Given the description of an element on the screen output the (x, y) to click on. 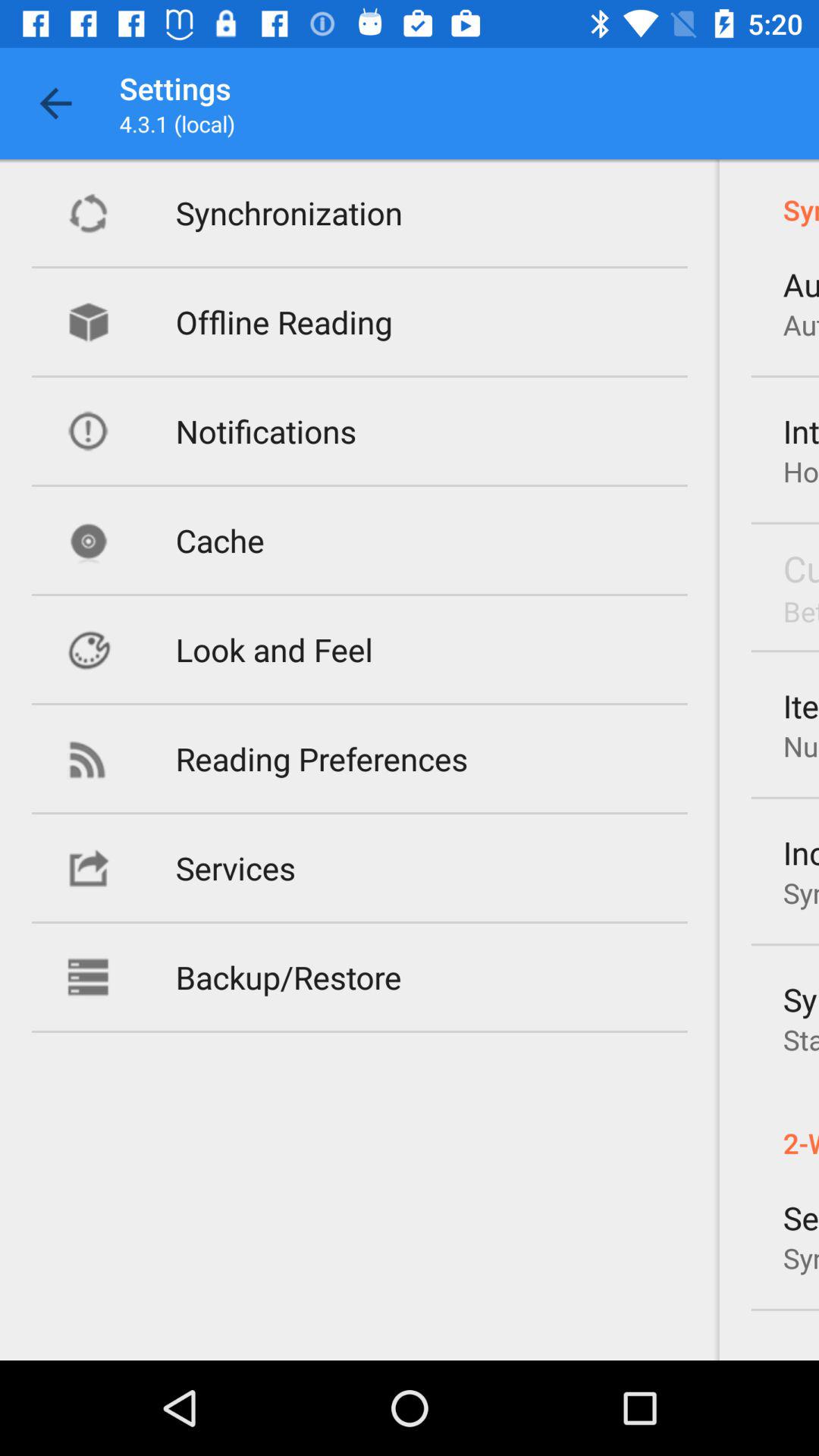
choose icon to the right of the cache (801, 568)
